Given the description of an element on the screen output the (x, y) to click on. 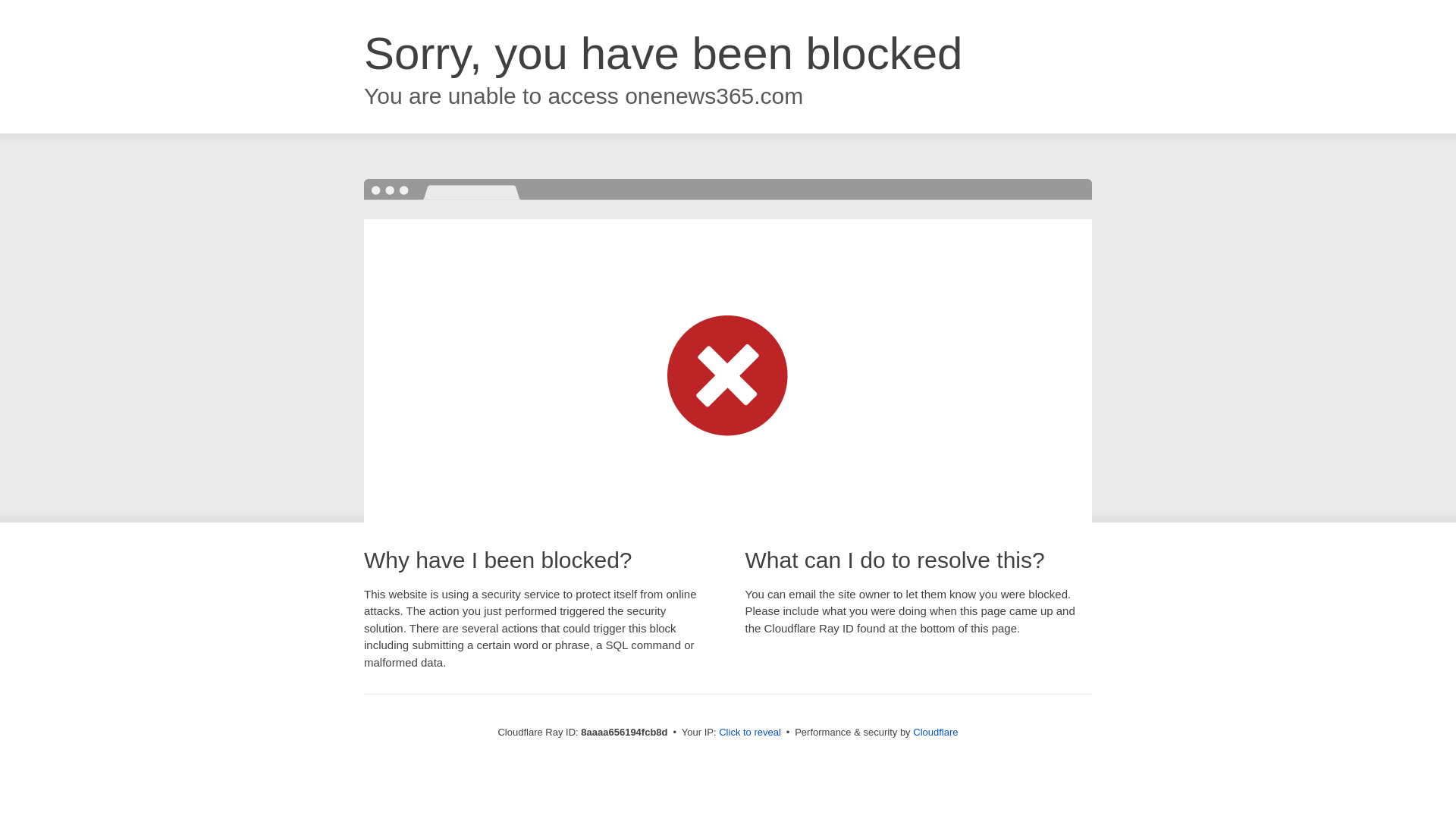
Click to reveal (749, 732)
Cloudflare (935, 731)
